Given the description of an element on the screen output the (x, y) to click on. 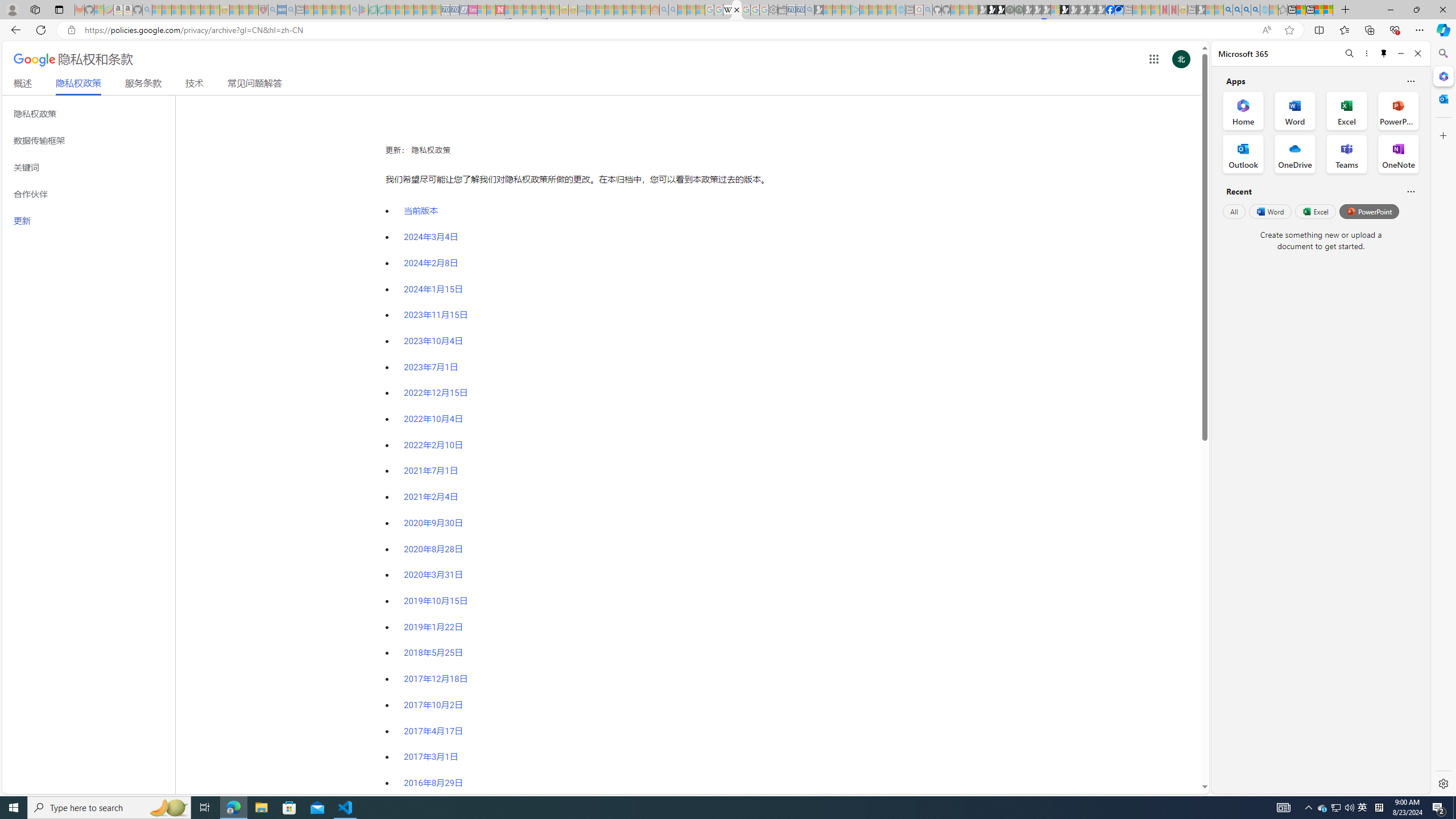
Future Focus Report 2024 - Sleeping (1018, 9)
